Given the description of an element on the screen output the (x, y) to click on. 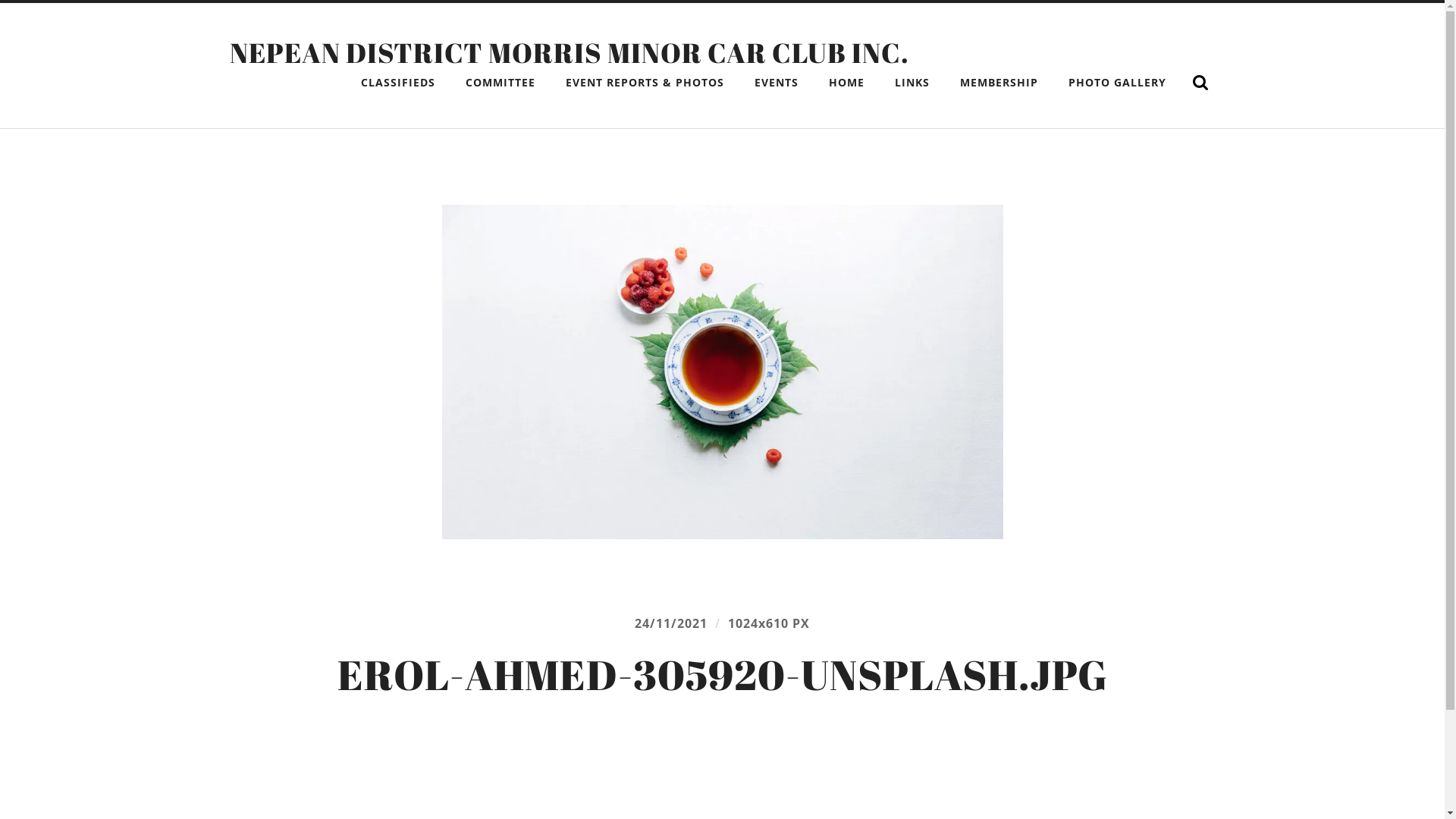
LINKS Element type: text (911, 82)
EVENT REPORTS & PHOTOS Element type: text (643, 82)
Show the search field Element type: hover (1199, 82)
MEMBERSHIP Element type: text (997, 82)
PHOTO GALLERY Element type: text (1117, 82)
EVENTS Element type: text (776, 82)
CLASSIFIEDS Element type: text (396, 82)
COMMITTEE Element type: text (499, 82)
NEPEAN DISTRICT MORRIS MINOR CAR CLUB INC. Element type: text (568, 52)
HOME Element type: text (846, 82)
